Given the description of an element on the screen output the (x, y) to click on. 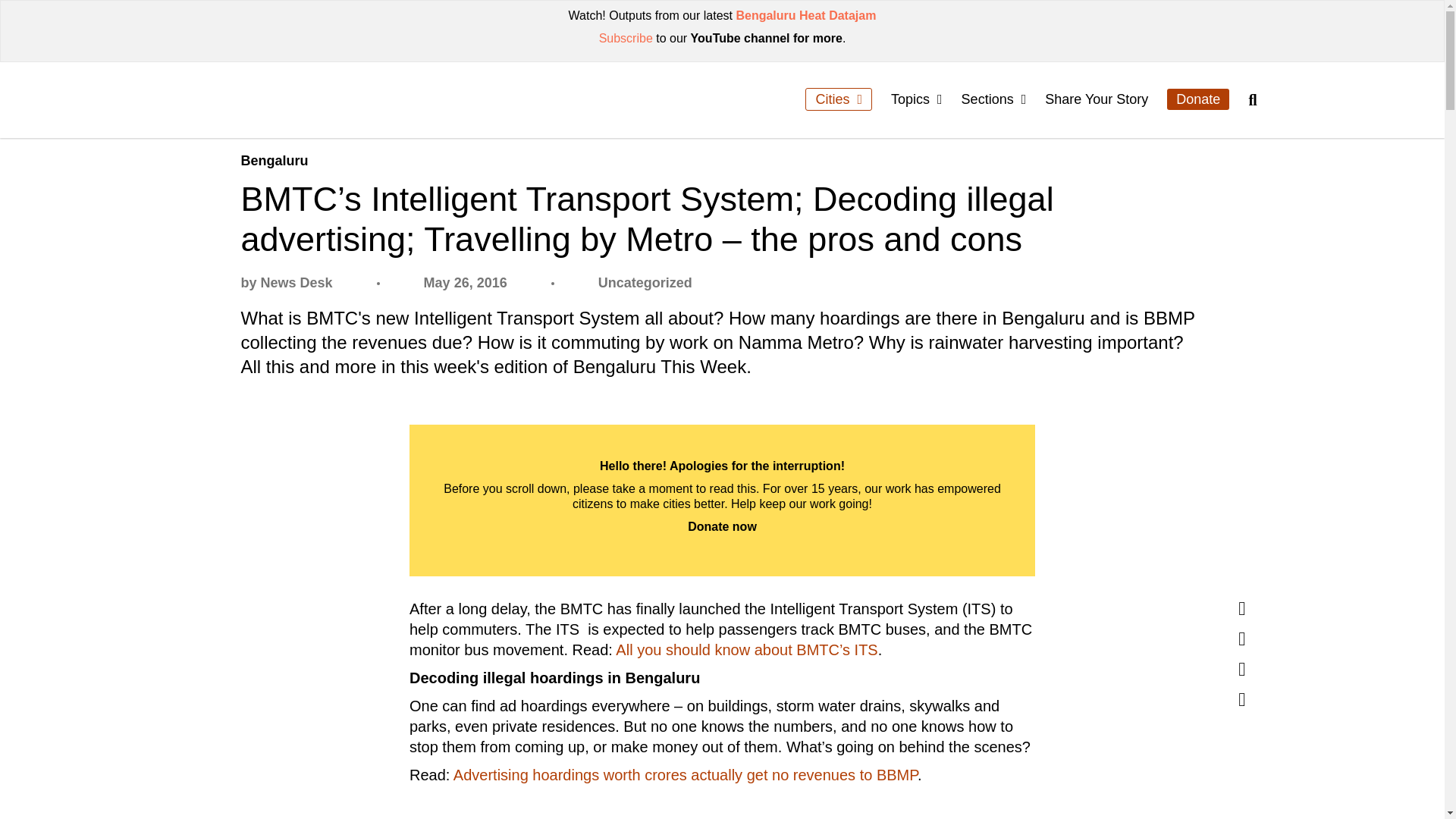
Subscribe (625, 38)
Bengaluru Heat Datajam (805, 15)
Cities (838, 98)
